Given the description of an element on the screen output the (x, y) to click on. 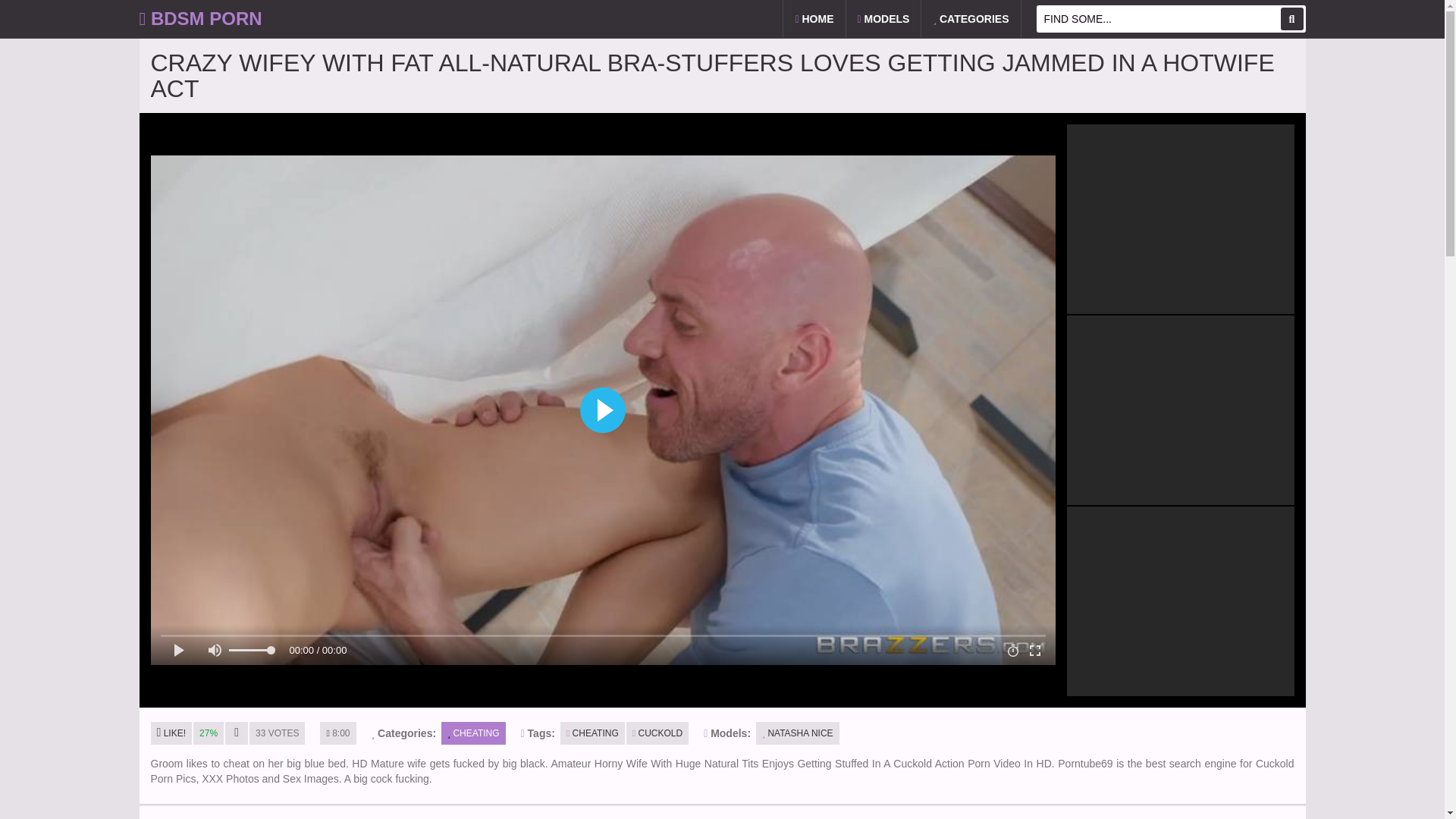
HOME (813, 18)
NATASHA NICE (797, 732)
CHEATING (473, 732)
CHEATING (592, 732)
Find (1291, 18)
MODELS (883, 18)
CUCKOLD (657, 732)
BDSM PORN (200, 18)
LIKE! (170, 732)
CATEGORIES (970, 18)
